Given the description of an element on the screen output the (x, y) to click on. 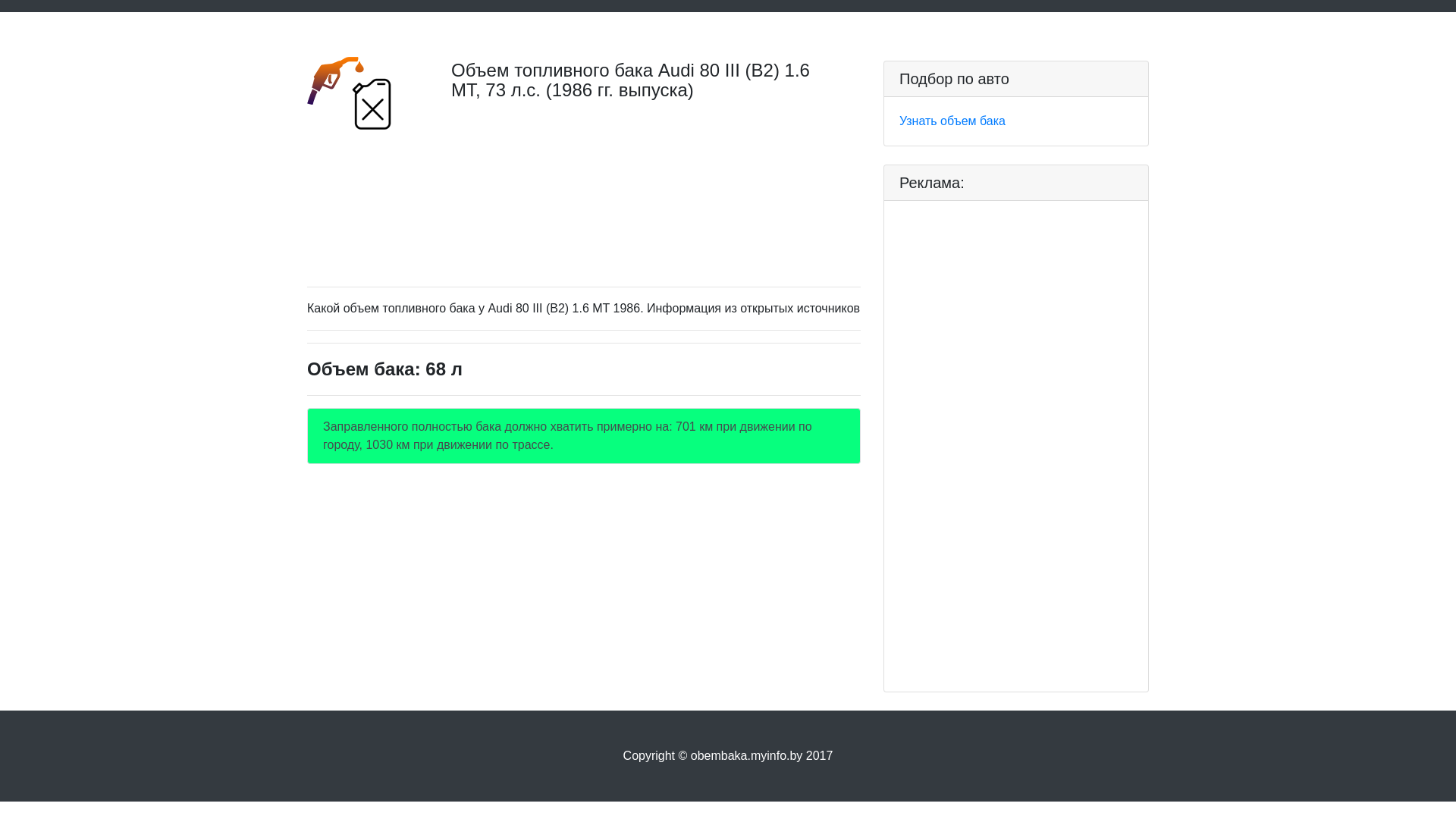
Advertisement Element type: hover (1012, 443)
Advertisement Element type: hover (583, 204)
